Given the description of an element on the screen output the (x, y) to click on. 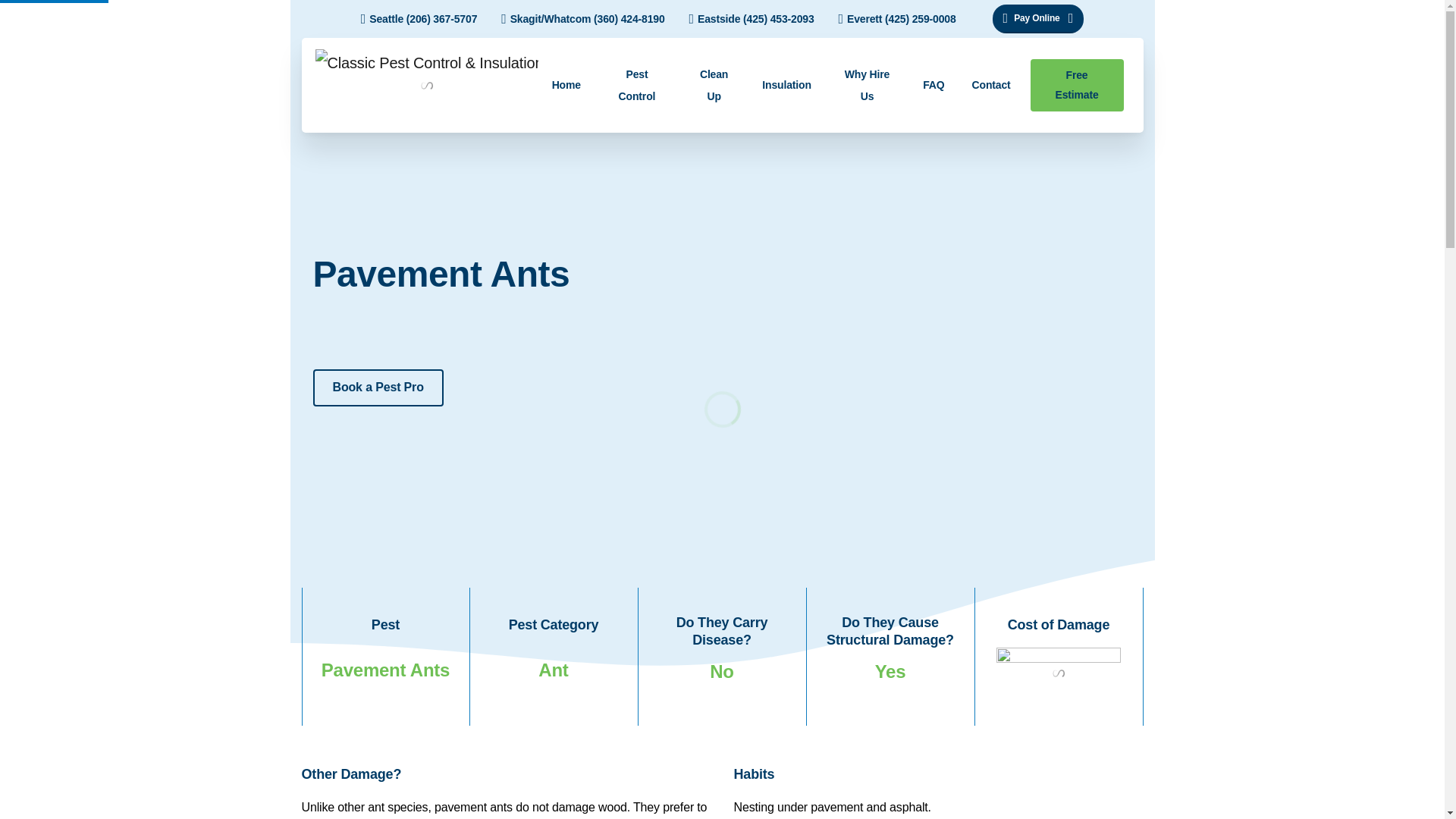
Pay Online (1038, 18)
Clean Up (714, 85)
Pest Control (636, 85)
Home (566, 84)
Pest Control (636, 85)
Insulation (785, 84)
Home (566, 84)
